Given the description of an element on the screen output the (x, y) to click on. 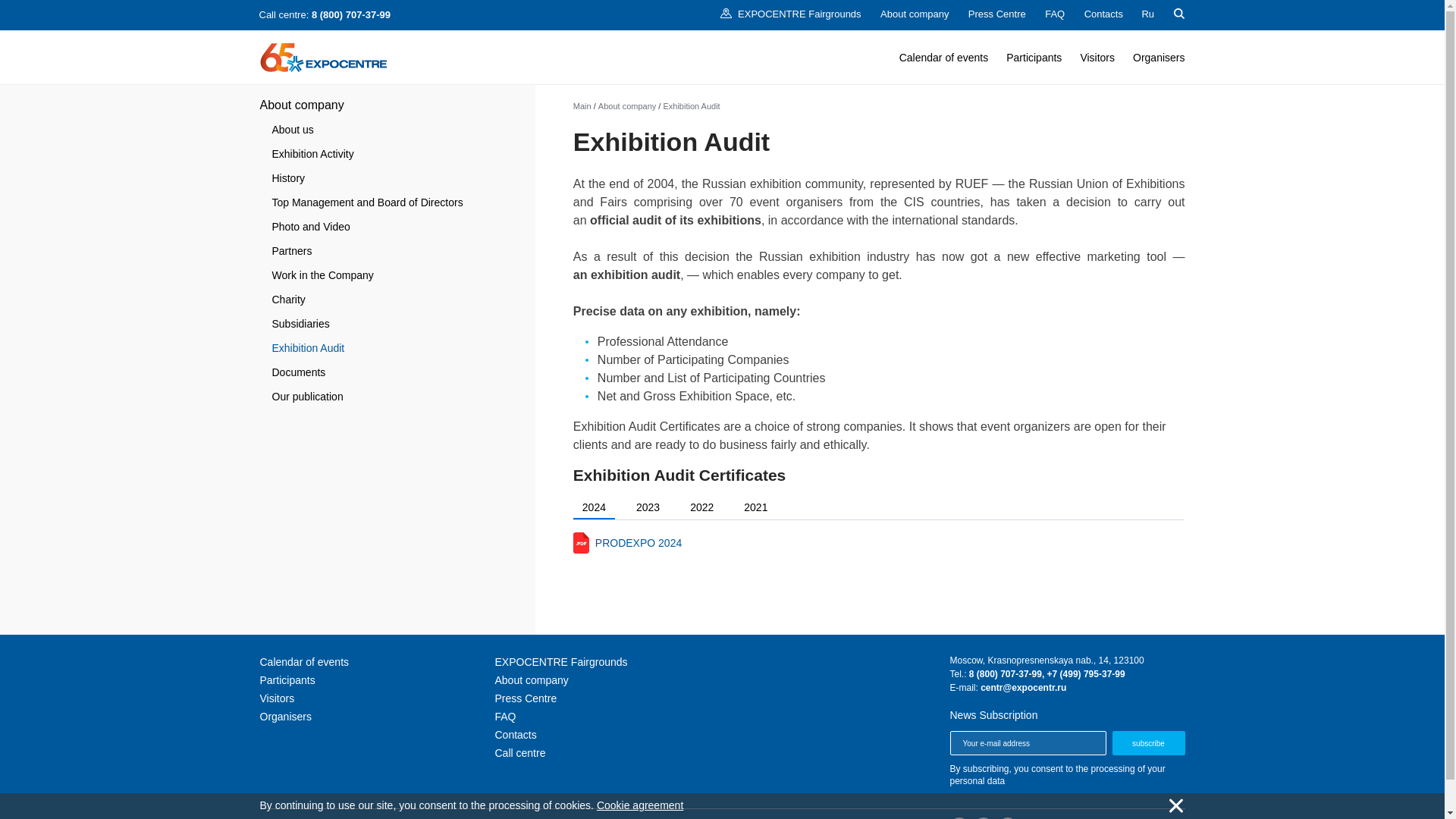
About company (627, 105)
2024 2023 2022 2021 (879, 509)
Calendar of events (943, 57)
Ru (1147, 13)
Organisers (1158, 57)
Exhibition Audit (690, 105)
Main (582, 105)
Participants (1033, 57)
